Given the description of an element on the screen output the (x, y) to click on. 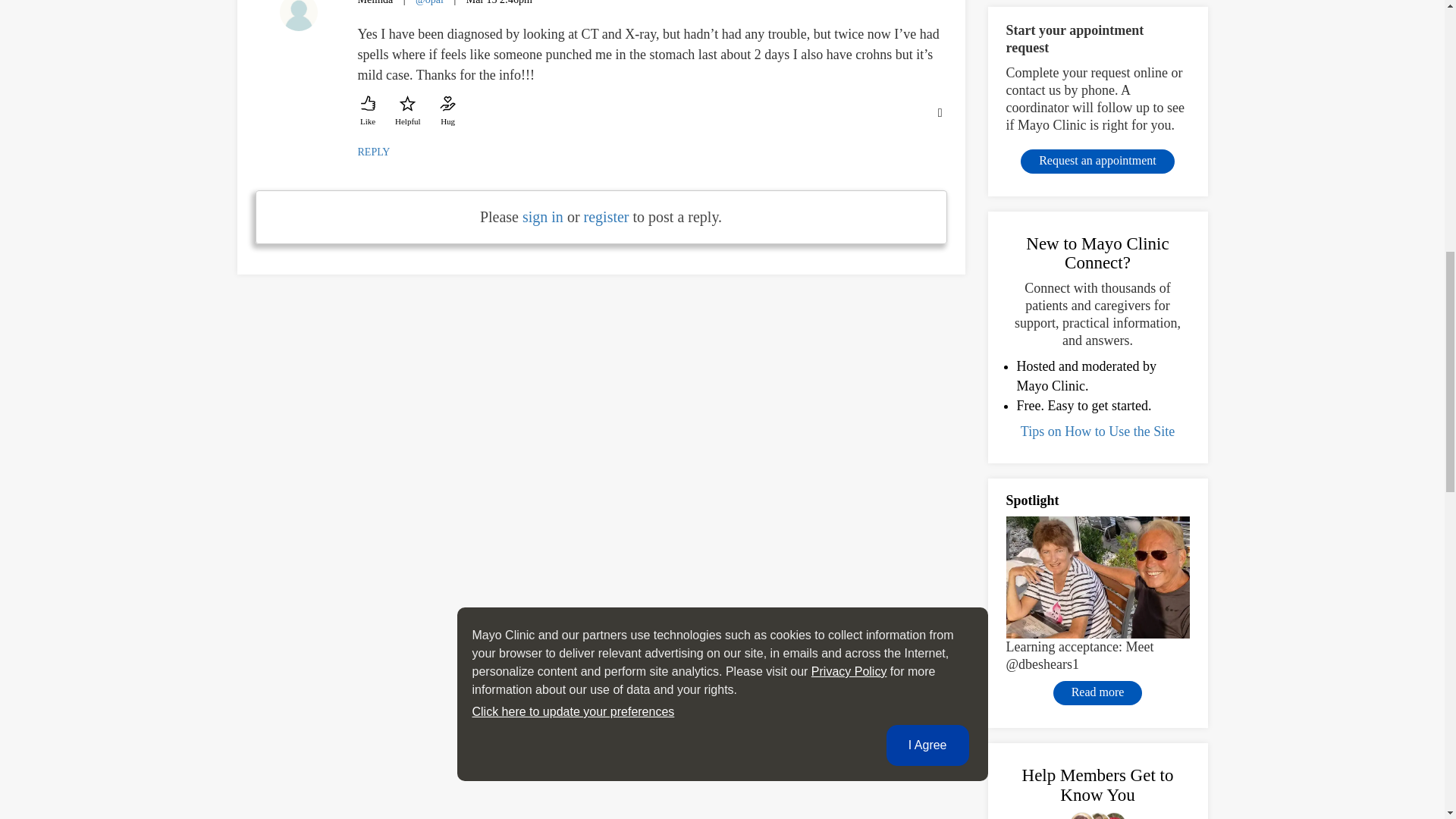
Helpful (407, 111)
Like (368, 111)
